Given the description of an element on the screen output the (x, y) to click on. 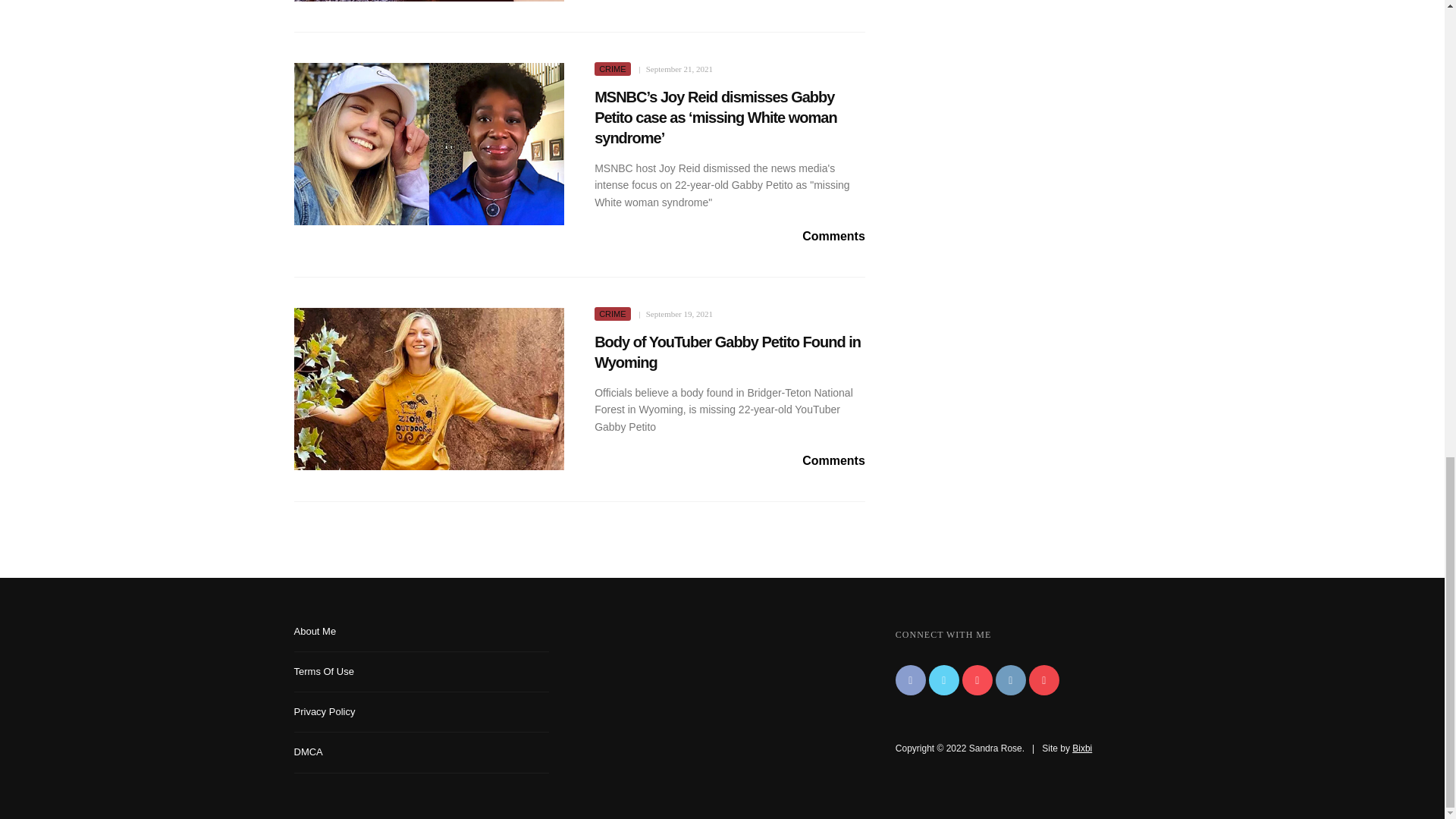
Body of YouTuber Gabby Petito Found in Wyoming (429, 387)
Body of YouTuber Gabby Petito Found in Wyoming (727, 352)
